Given the description of an element on the screen output the (x, y) to click on. 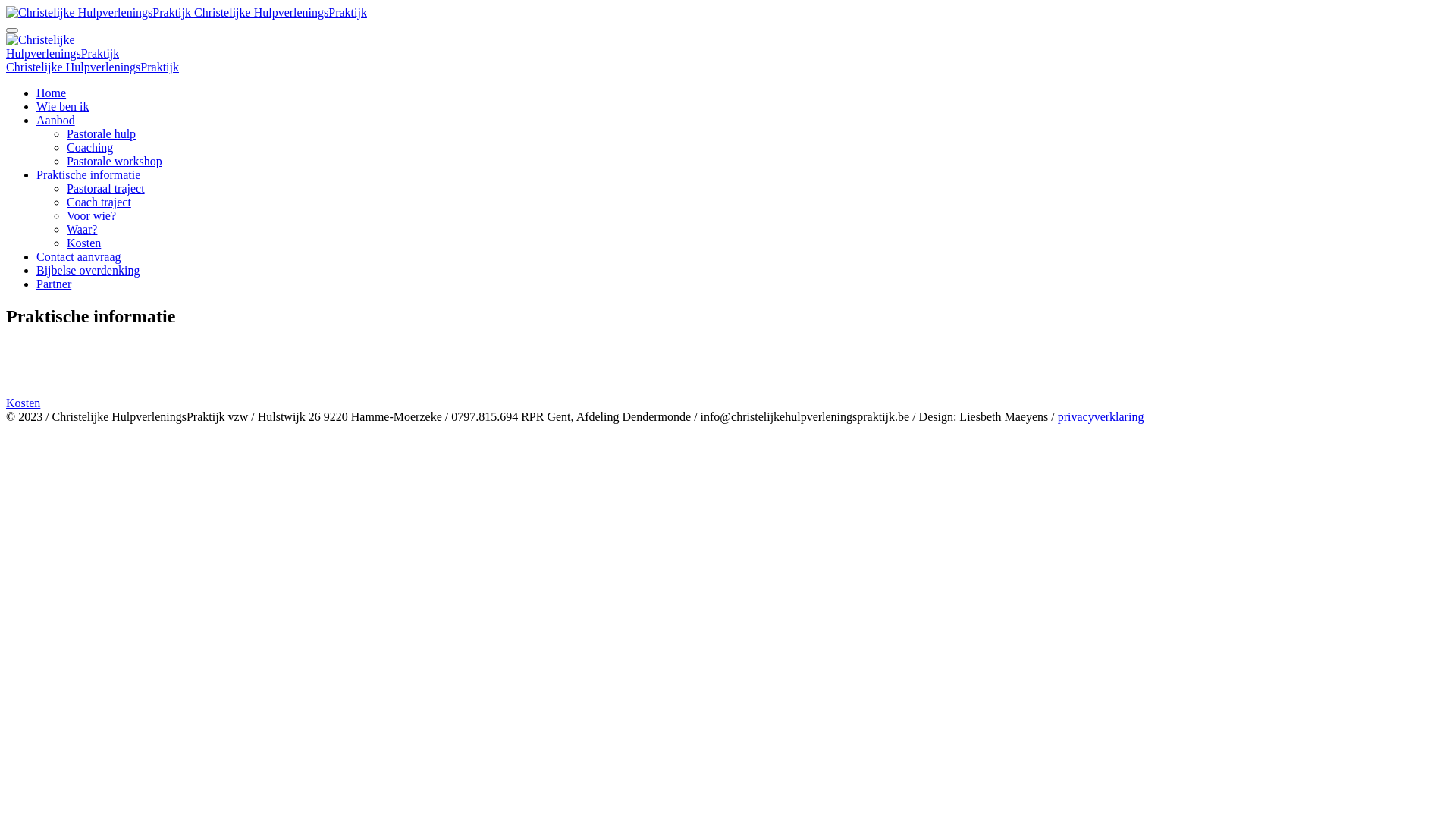
Partner Element type: text (53, 283)
Home Element type: text (50, 92)
Waar? Element type: text (81, 228)
Christelijke HulpverleningsPraktijk Element type: hover (62, 46)
Aanbod Element type: text (55, 119)
Voor wie? Element type: text (91, 215)
Christelijke HulpverleningsPraktijk Element type: text (186, 12)
Bijbelse overdenking Element type: text (87, 269)
Christelijke HulpverleningsPraktijk Element type: text (92, 66)
Coach traject Element type: text (727, 362)
Pastoraal traject Element type: text (727, 348)
Voor wie ? Element type: text (727, 375)
Praktische informatie Element type: text (88, 174)
privacyverklaring Element type: text (1100, 416)
Waar  en wanneer? Element type: text (727, 389)
Pastorale hulp Element type: text (100, 133)
Pastoraal traject Element type: text (105, 188)
Coach traject Element type: text (98, 201)
Christelijke HulpverleningsPraktijk Element type: hover (98, 12)
Coaching Element type: text (89, 147)
Kosten Element type: text (83, 242)
Kosten Element type: text (727, 403)
Pastorale workshop Element type: text (114, 160)
Wie ben ik Element type: text (62, 106)
Contact aanvraag Element type: text (78, 256)
